Given the description of an element on the screen output the (x, y) to click on. 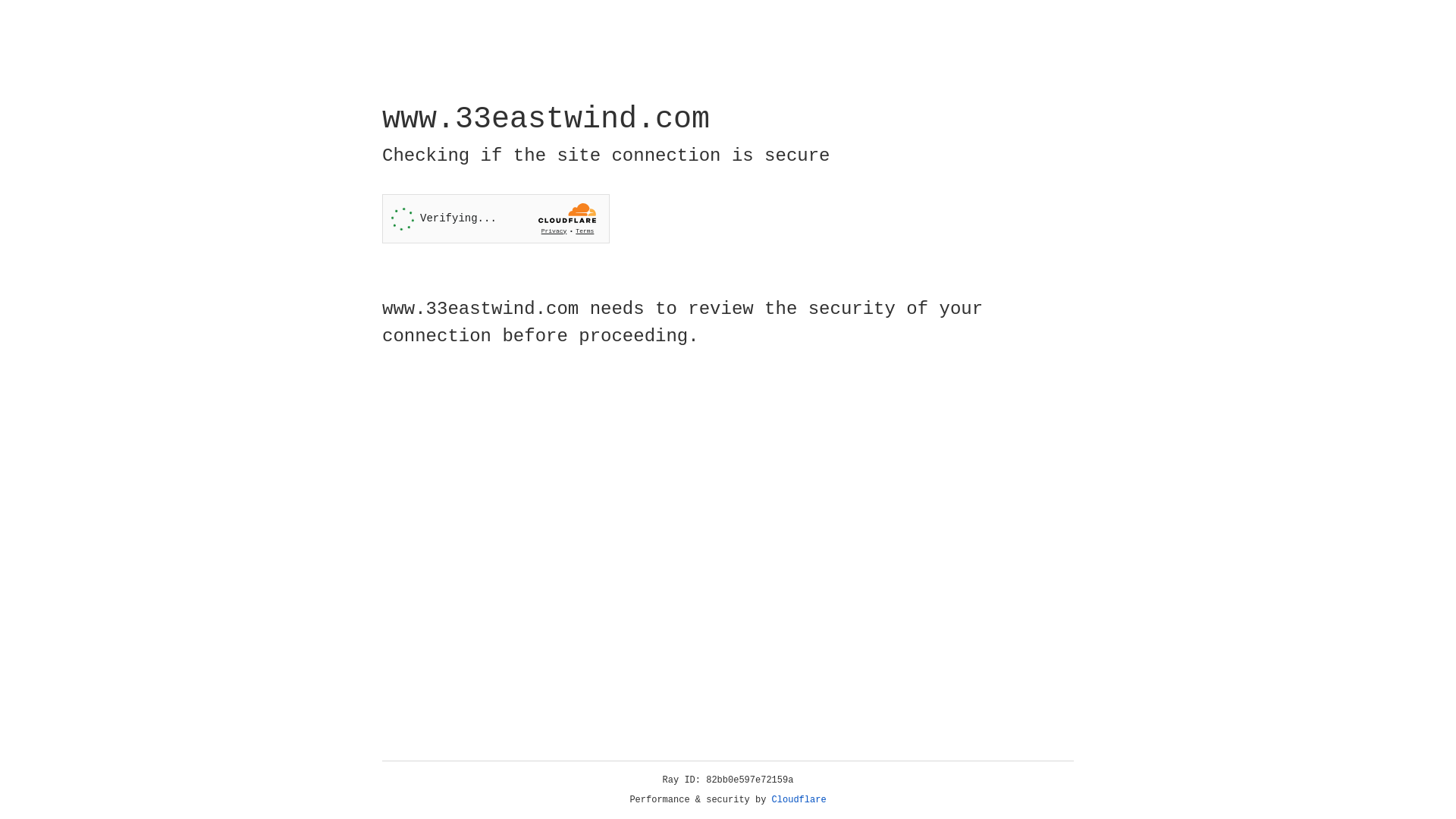
Widget containing a Cloudflare security challenge Element type: hover (495, 218)
Cloudflare Element type: text (798, 799)
